Given the description of an element on the screen output the (x, y) to click on. 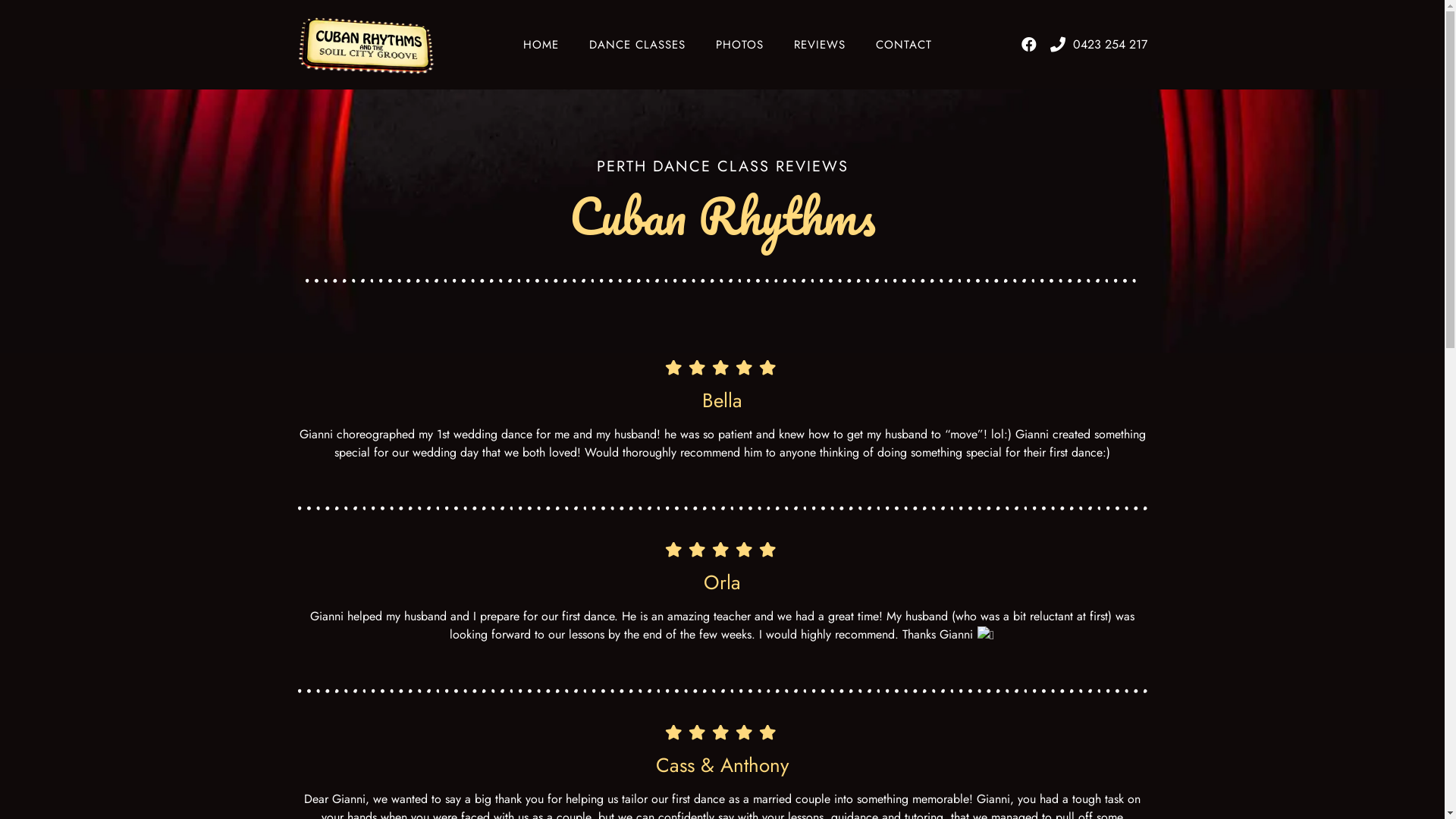
CONTACT Element type: text (903, 44)
REVIEWS Element type: text (819, 44)
DANCE CLASSES Element type: text (637, 44)
PHOTOS Element type: text (739, 44)
HOME Element type: text (541, 44)
